Given the description of an element on the screen output the (x, y) to click on. 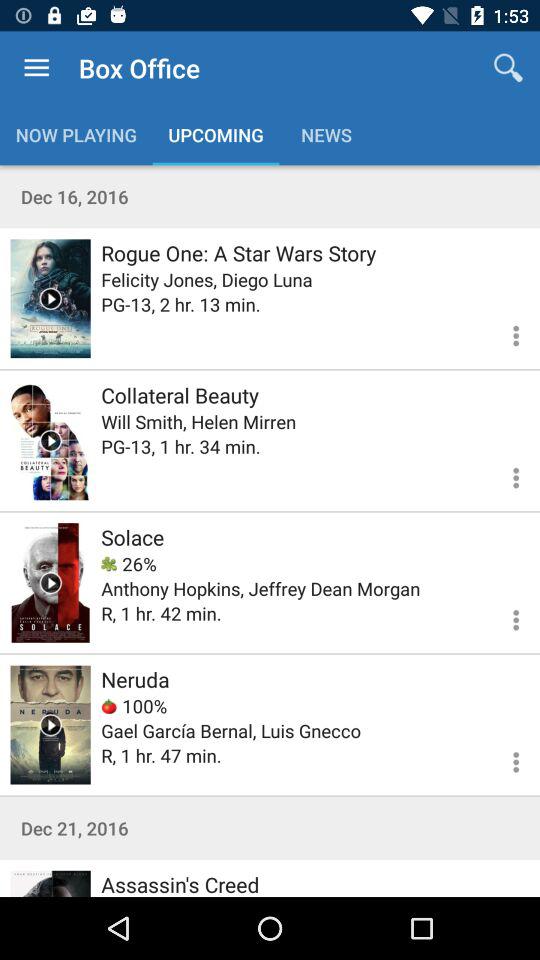
turn off app to the left of the box office (36, 68)
